Given the description of an element on the screen output the (x, y) to click on. 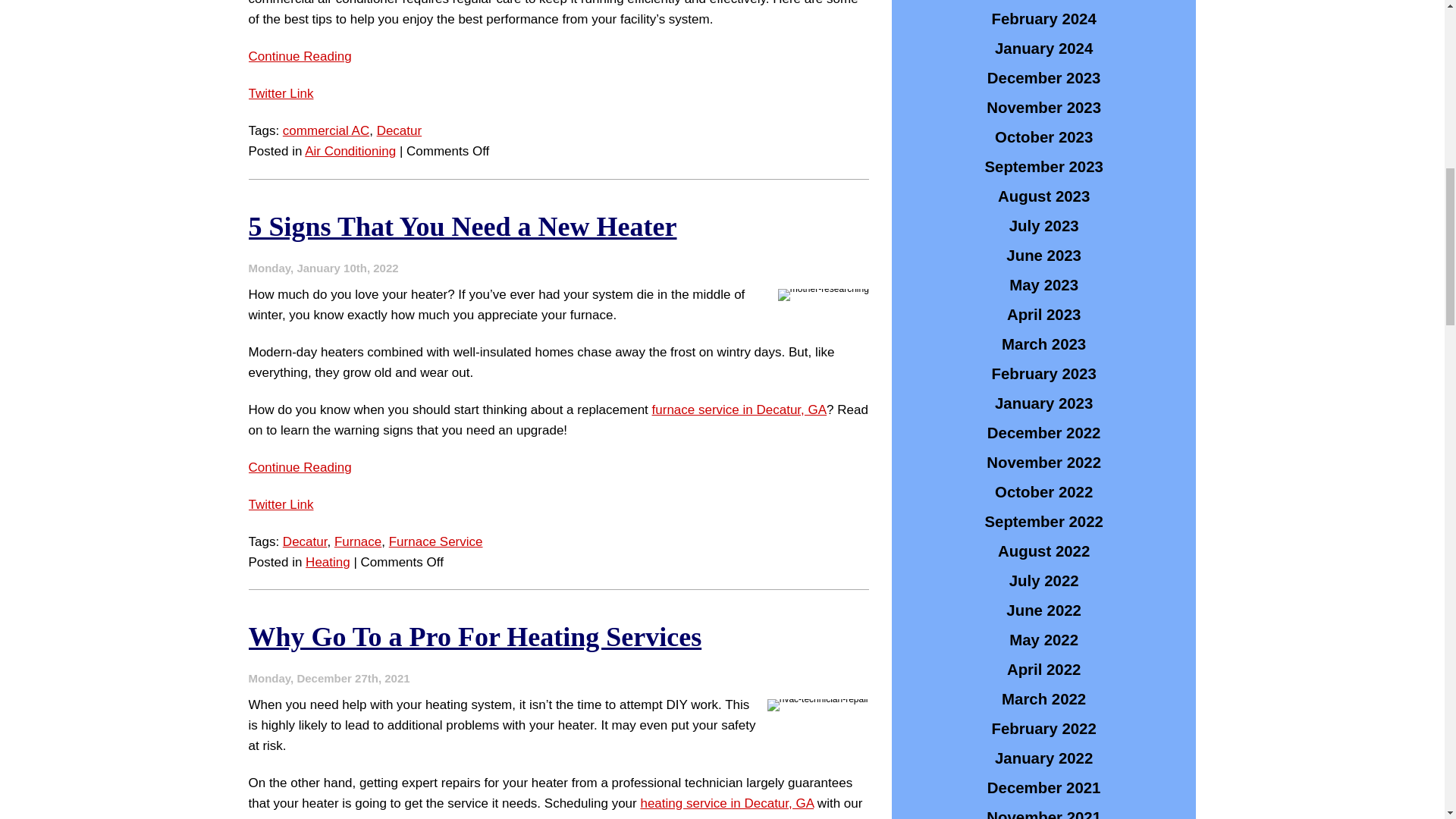
Permanent Link to 5 Signs That You Need a New Heater (300, 467)
Permanent Link to 5 Signs That You Need a New Heater (462, 226)
Permanent Link to Why Go To a Pro For Heating Services (474, 636)
